Given the description of an element on the screen output the (x, y) to click on. 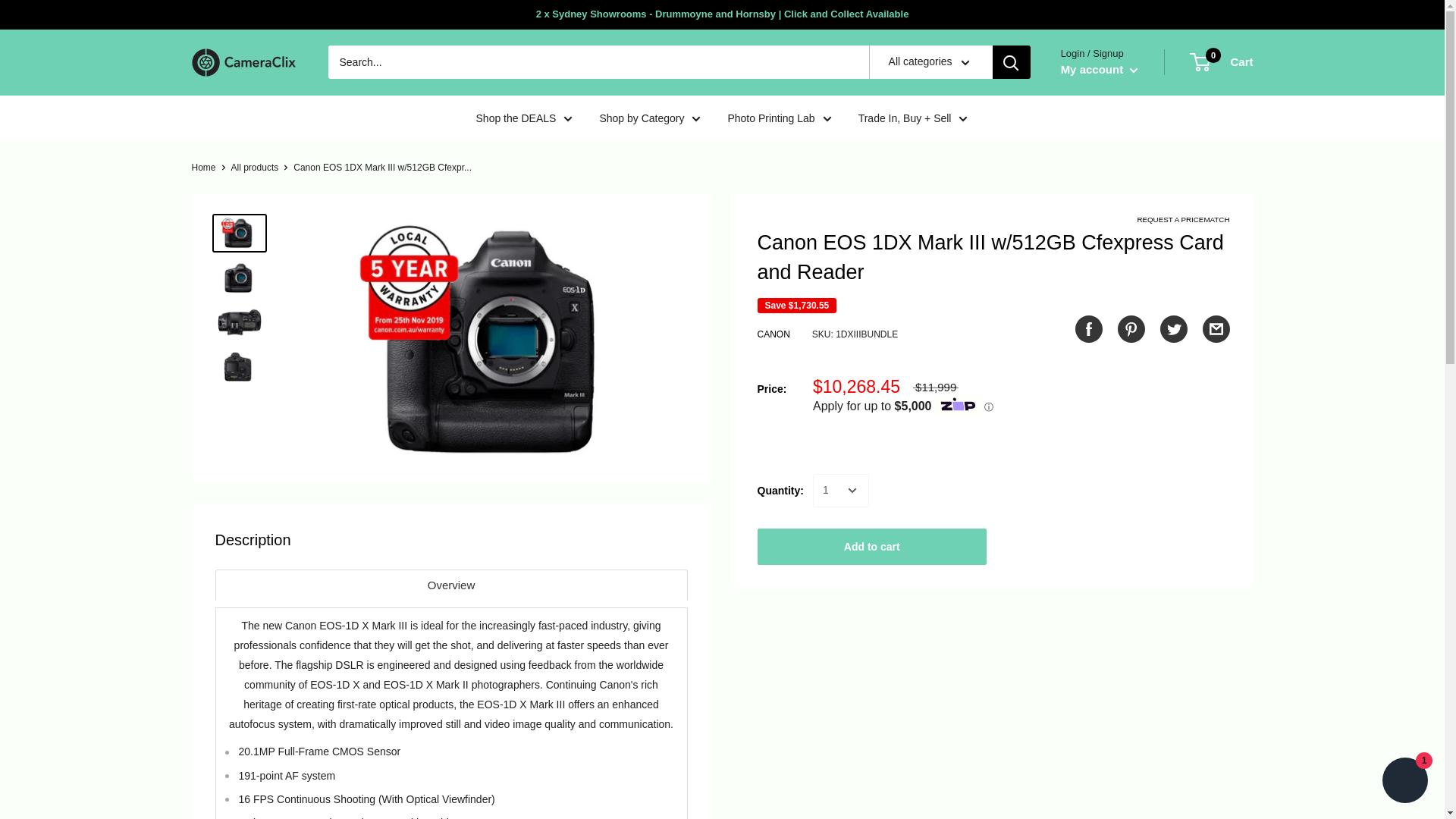
Shopify online store chat (1404, 781)
